Given the description of an element on the screen output the (x, y) to click on. 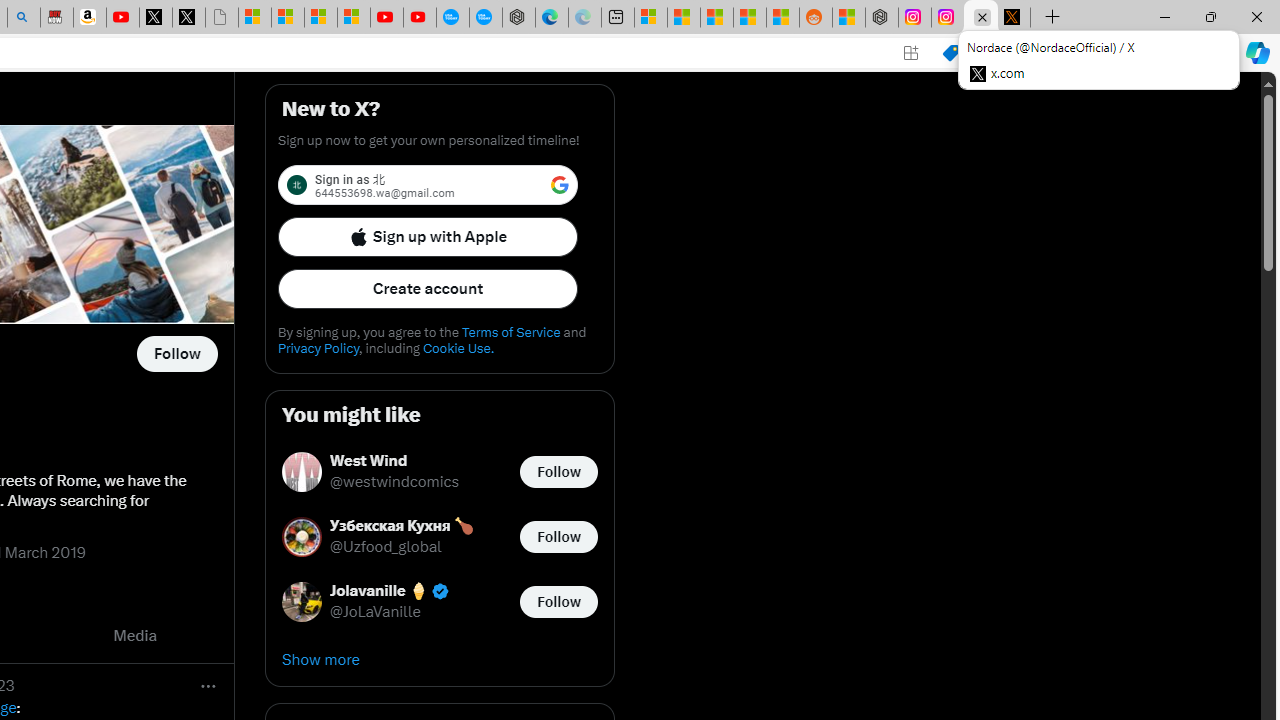
Nordace (@NordaceOfficial) / X (981, 17)
Verified account (440, 591)
Untitled (222, 17)
@Uzfood_global (386, 547)
Cookie Use. (458, 348)
@JoLaVanille (375, 611)
Create account (427, 288)
Next (212, 636)
West Wind (394, 461)
